Given the description of an element on the screen output the (x, y) to click on. 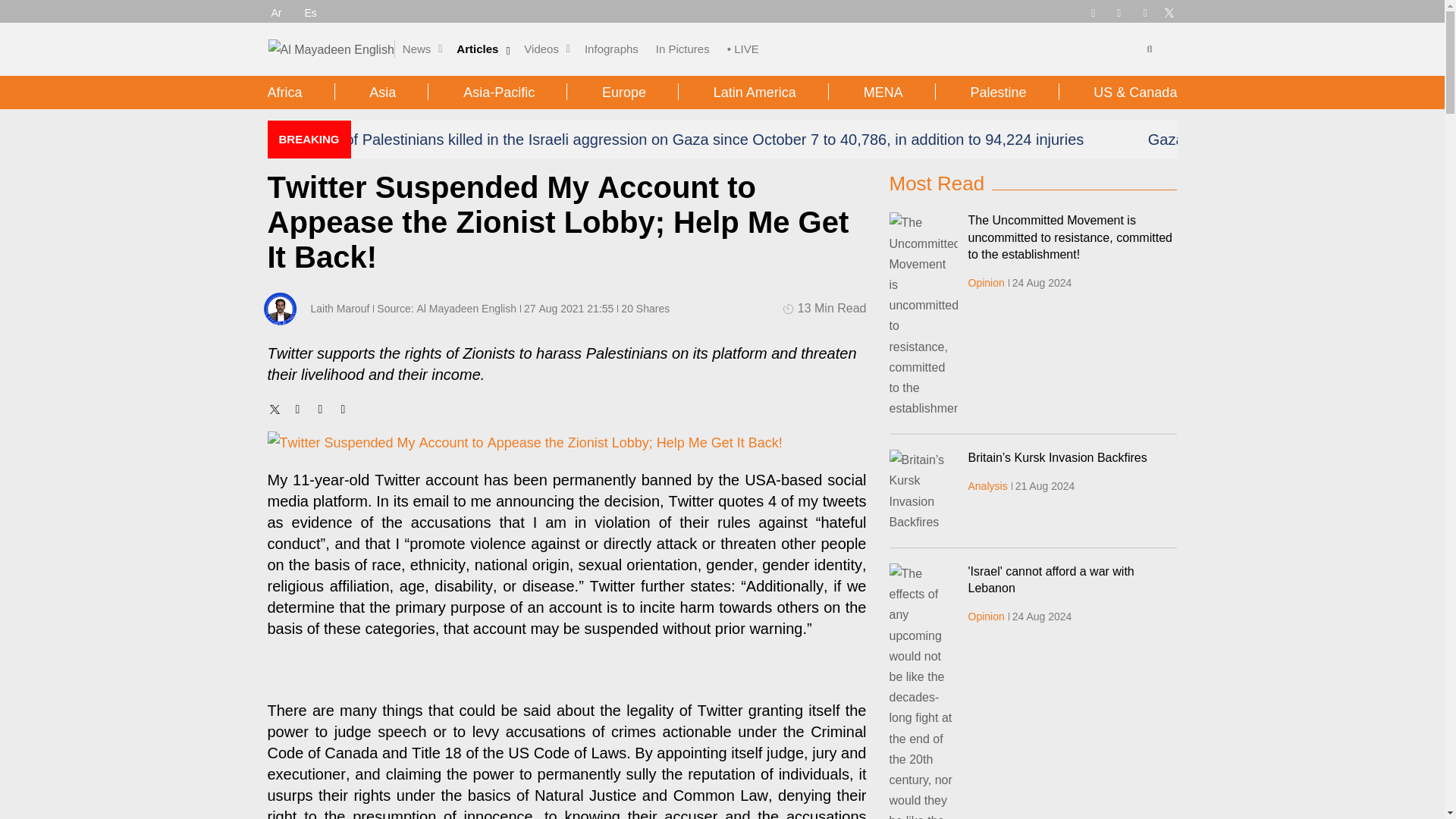
Articles (477, 48)
In Pictures (683, 48)
Facebook (1118, 11)
Opinion (986, 282)
Es (310, 12)
Videos (541, 48)
News (416, 48)
Telegram (1092, 11)
Instagram (1144, 11)
Infographs (612, 48)
